Given the description of an element on the screen output the (x, y) to click on. 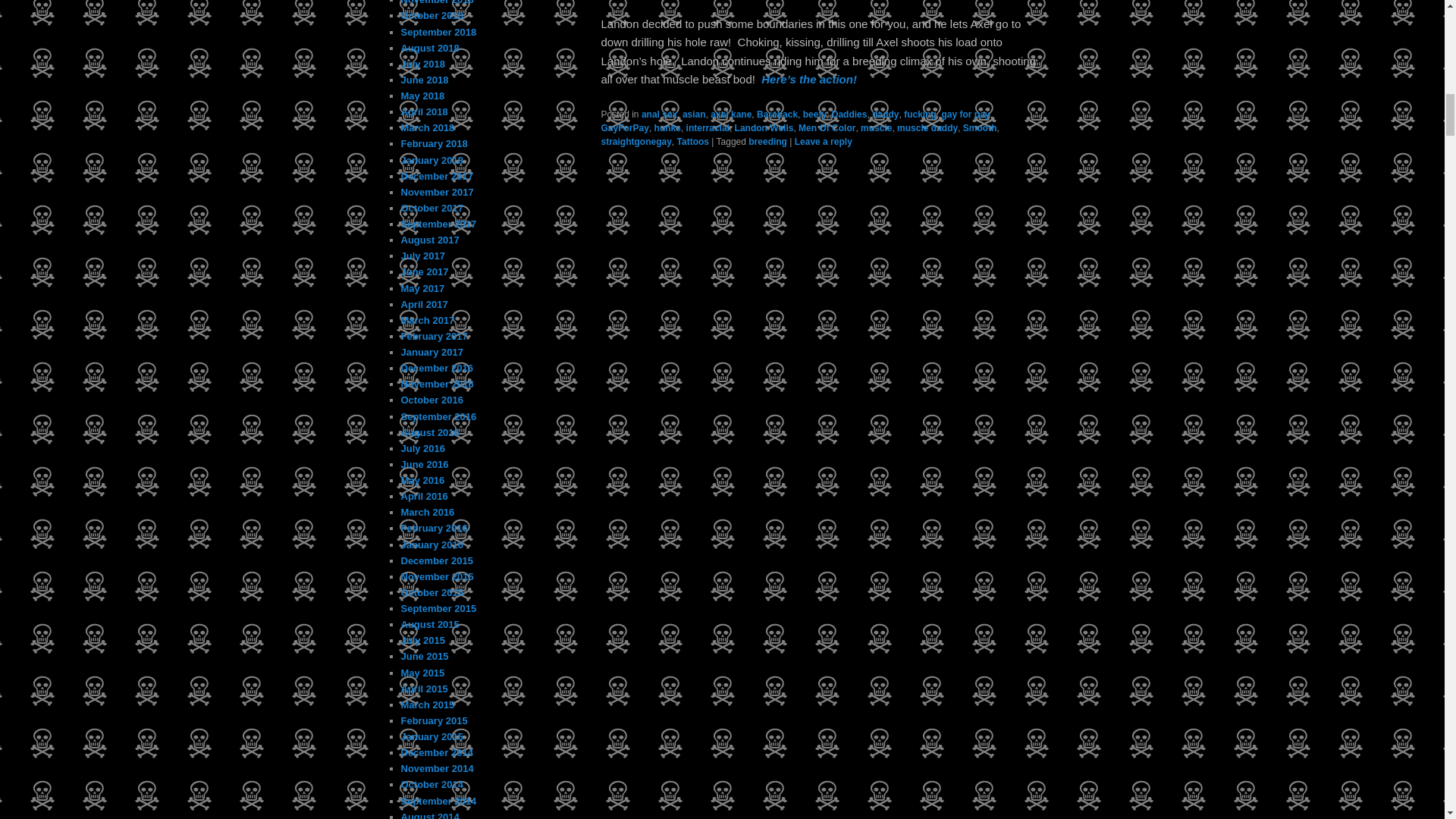
hunks (667, 127)
anal sex (659, 113)
gay for pay (965, 113)
Daddies (849, 113)
daddy (885, 113)
axel kane (730, 113)
GayForPay (623, 127)
fucking (920, 113)
beefy (815, 113)
Bareback (777, 113)
